Given the description of an element on the screen output the (x, y) to click on. 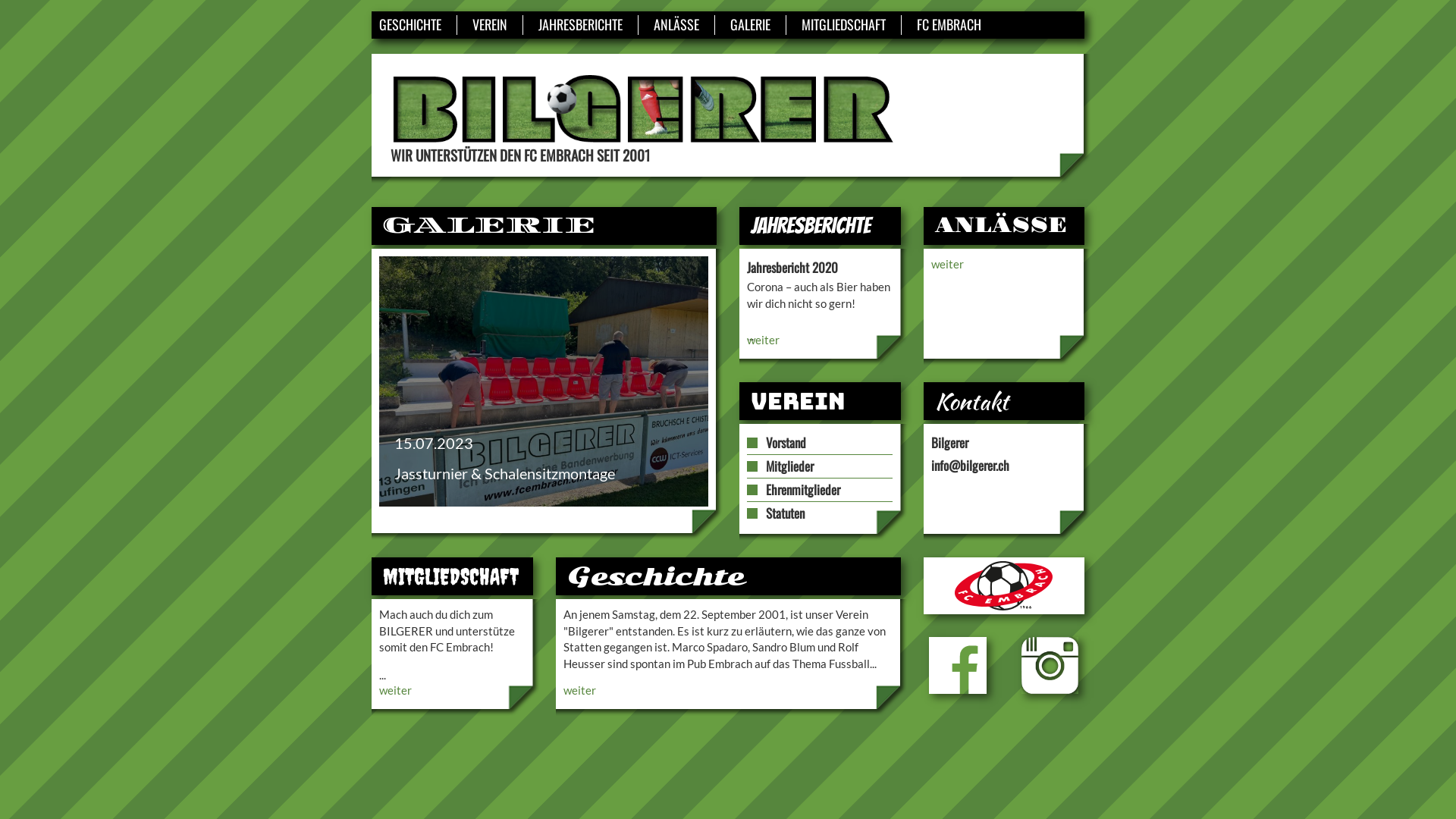
JAHRESBERICHTE Element type: text (580, 24)
FC EMBRACH Element type: text (948, 24)
MITGLIEDSCHAFT Element type: text (843, 24)
GALERIE Element type: text (750, 24)
FC Embrach Element type: hover (1003, 585)
Ehrenmitglieder Element type: text (802, 489)
Besuche uns auf Facebook Element type: hover (956, 665)
weiter Element type: text (578, 689)
Bilgerer Element type: hover (643, 108)
Vorstand Element type: text (785, 442)
weiter Element type: text (762, 339)
GESCHICHTE Element type: text (410, 24)
weiter Element type: text (395, 689)
Besuche uns auf Instagram Element type: hover (1049, 665)
15.07.2023
Jassturnier & Schalensitzmontage Element type: text (543, 381)
weiter Element type: text (947, 263)
VEREIN Element type: text (489, 24)
Mitglieder Element type: text (789, 465)
Jassturnier & Schalensitzmontage Element type: hover (543, 381)
info@bilgerer.ch Element type: text (970, 464)
Statuten Element type: text (784, 512)
